Given the description of an element on the screen output the (x, y) to click on. 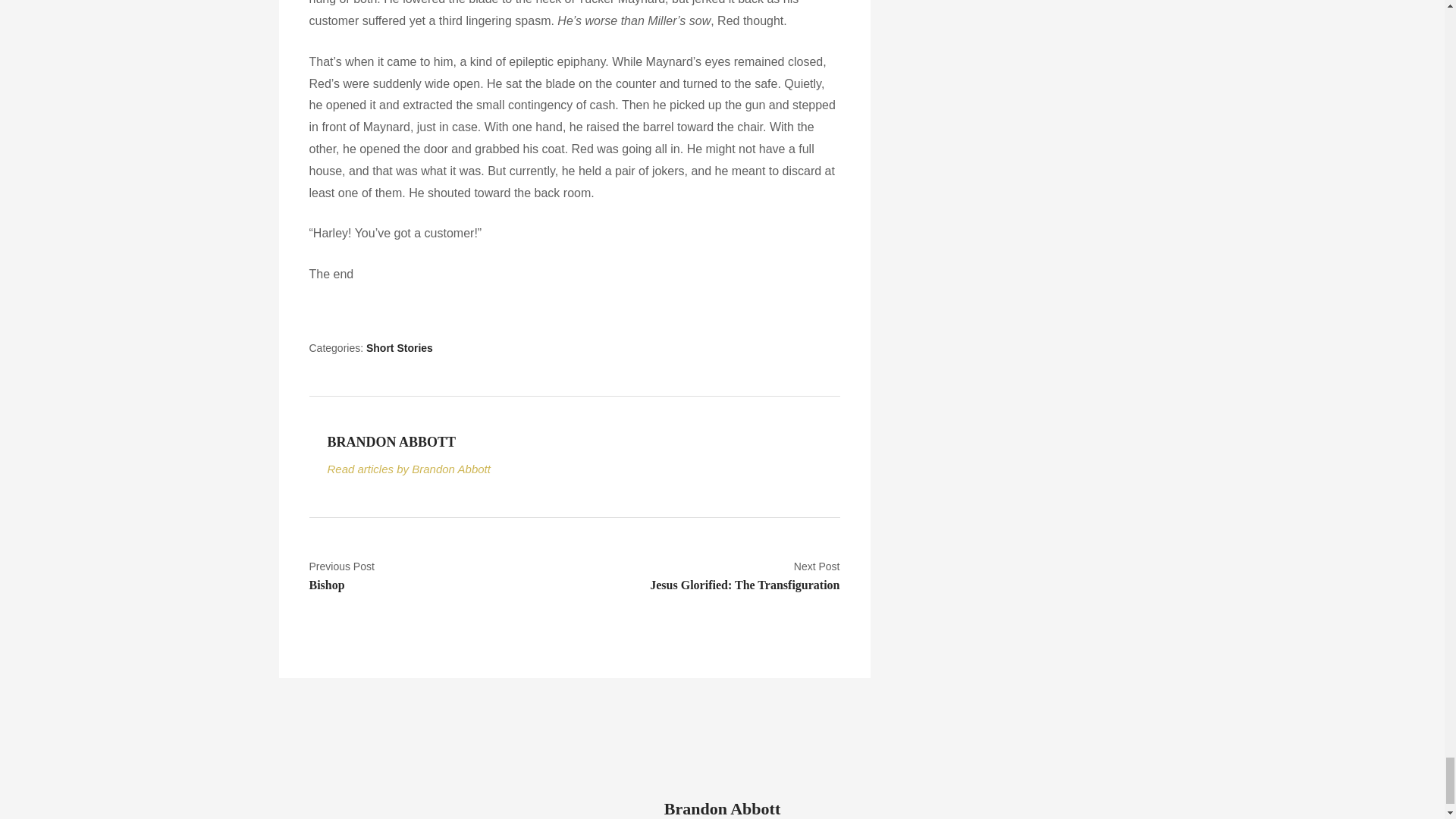
Read articles by Brandon Abbott (712, 576)
Short Stories (583, 468)
